Given the description of an element on the screen output the (x, y) to click on. 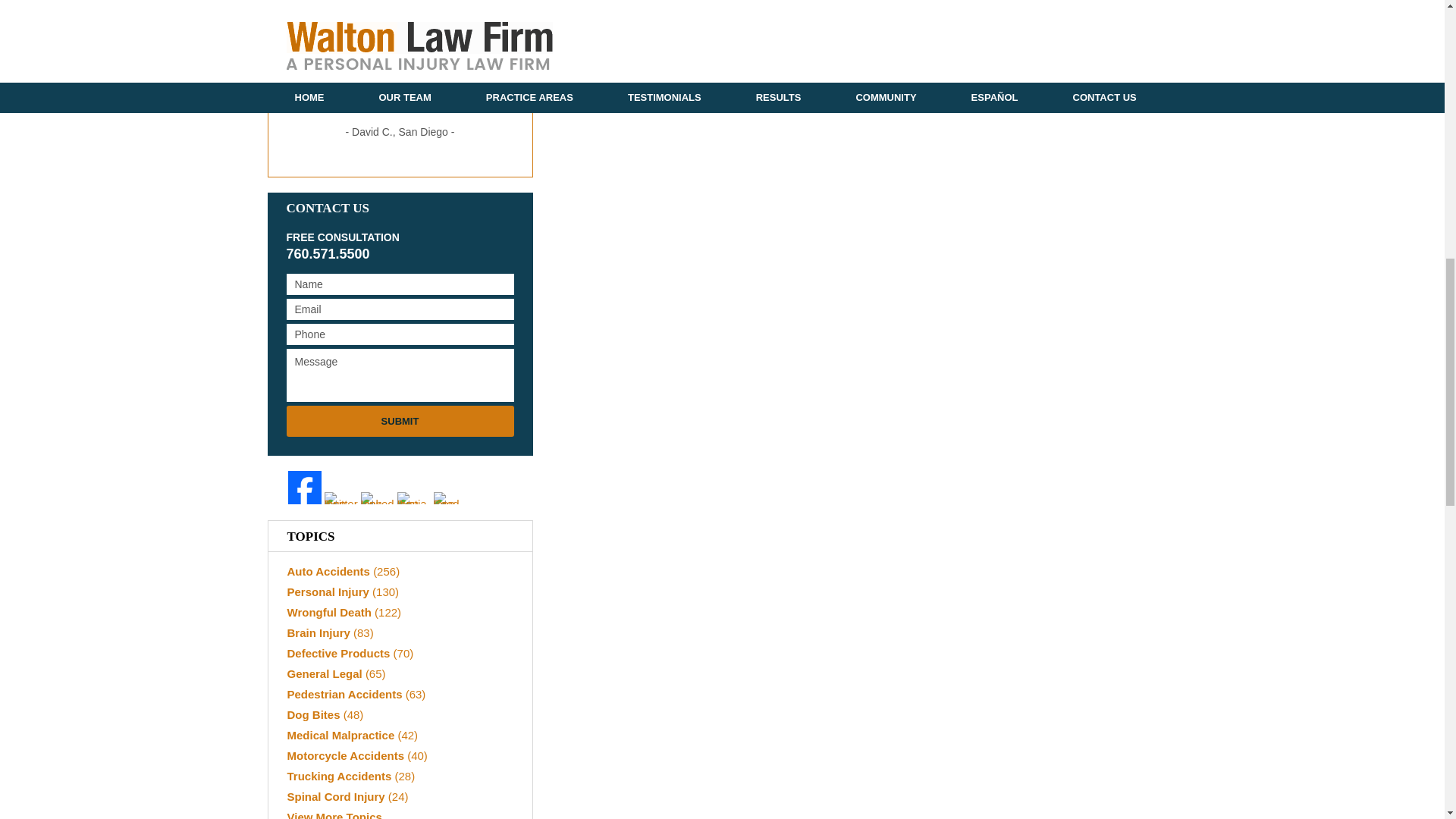
Feed (450, 498)
Home (642, 2)
San Diego Paramedic Killed Responding to Car Accident (687, 2)
LinkedIn (377, 498)
Twitter (341, 498)
Please enter a valid phone number. (399, 333)
Facebook (304, 487)
Justia (414, 498)
SUBMIT (399, 420)
Elderly Driver Critically Injures Man In Costco Parking Lot (584, 2)
